Given the description of an element on the screen output the (x, y) to click on. 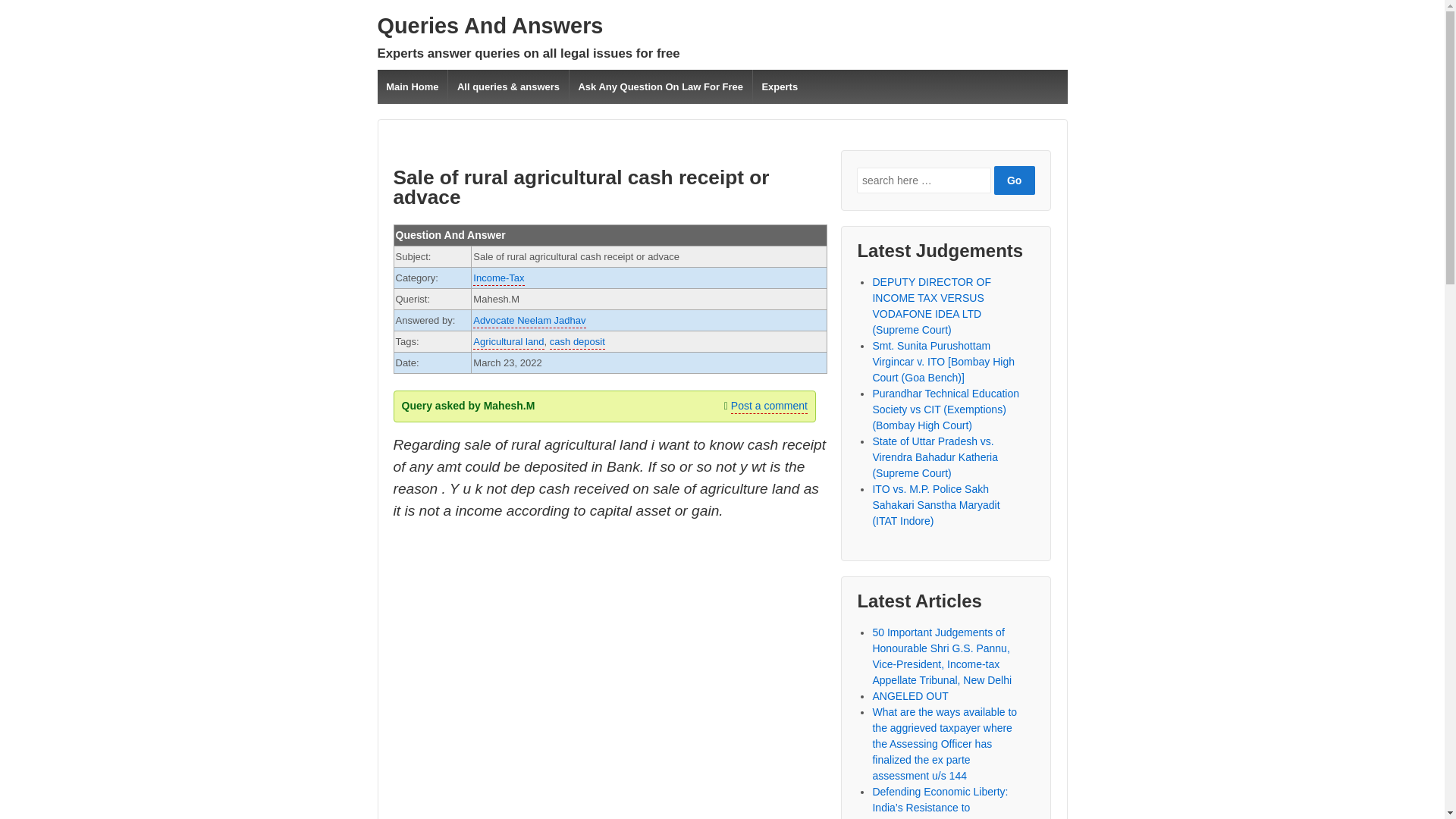
Income-Tax (498, 278)
Main Home (412, 86)
Advocate Neelam Jadhav (529, 321)
Go (1014, 180)
ANGELED OUT (909, 695)
Ask your questions, experts will answer (490, 25)
Ask Any Question On Law For Free (660, 86)
Queries And Answers (490, 25)
Go (1014, 180)
